Given the description of an element on the screen output the (x, y) to click on. 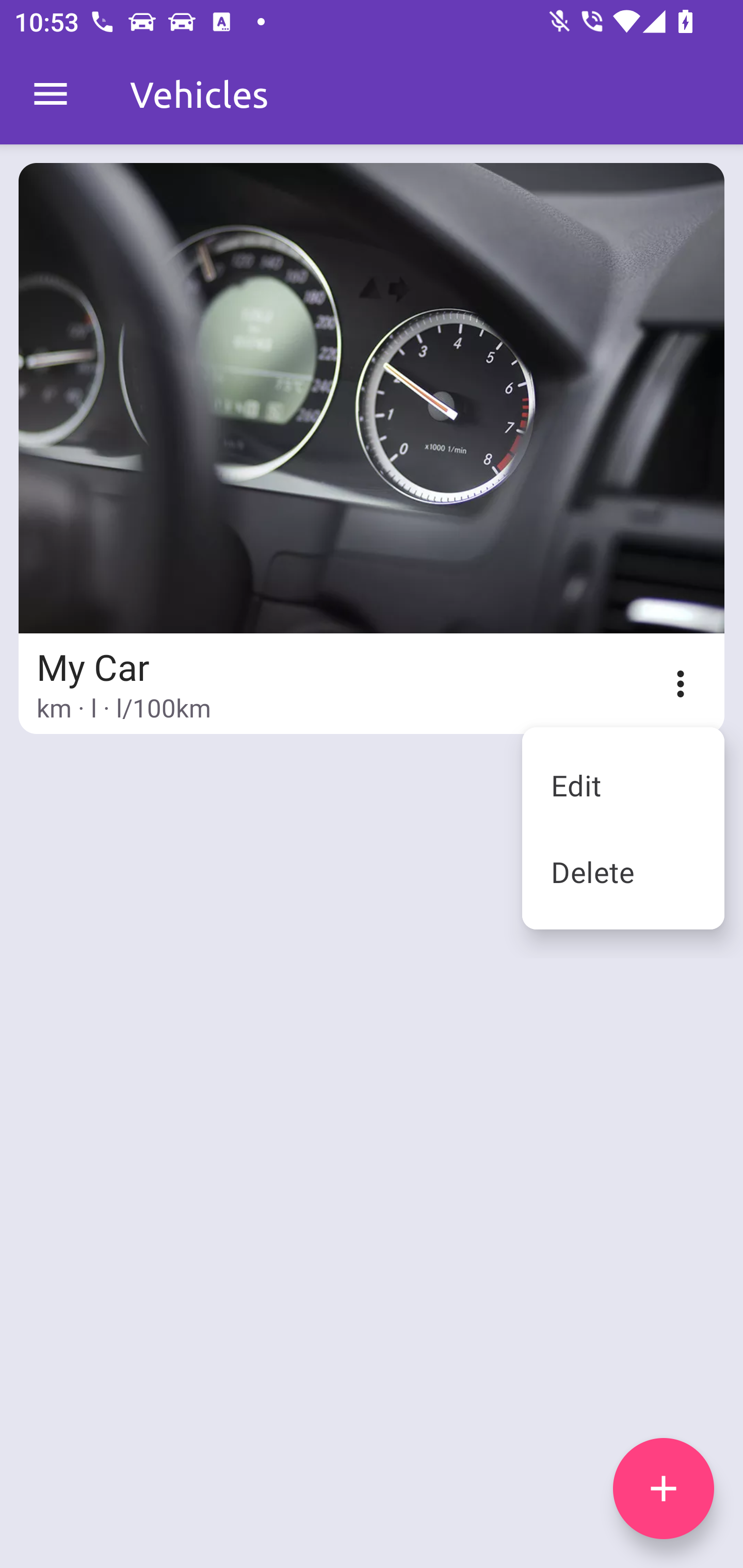
Edit (623, 784)
Delete (623, 871)
